Given the description of an element on the screen output the (x, y) to click on. 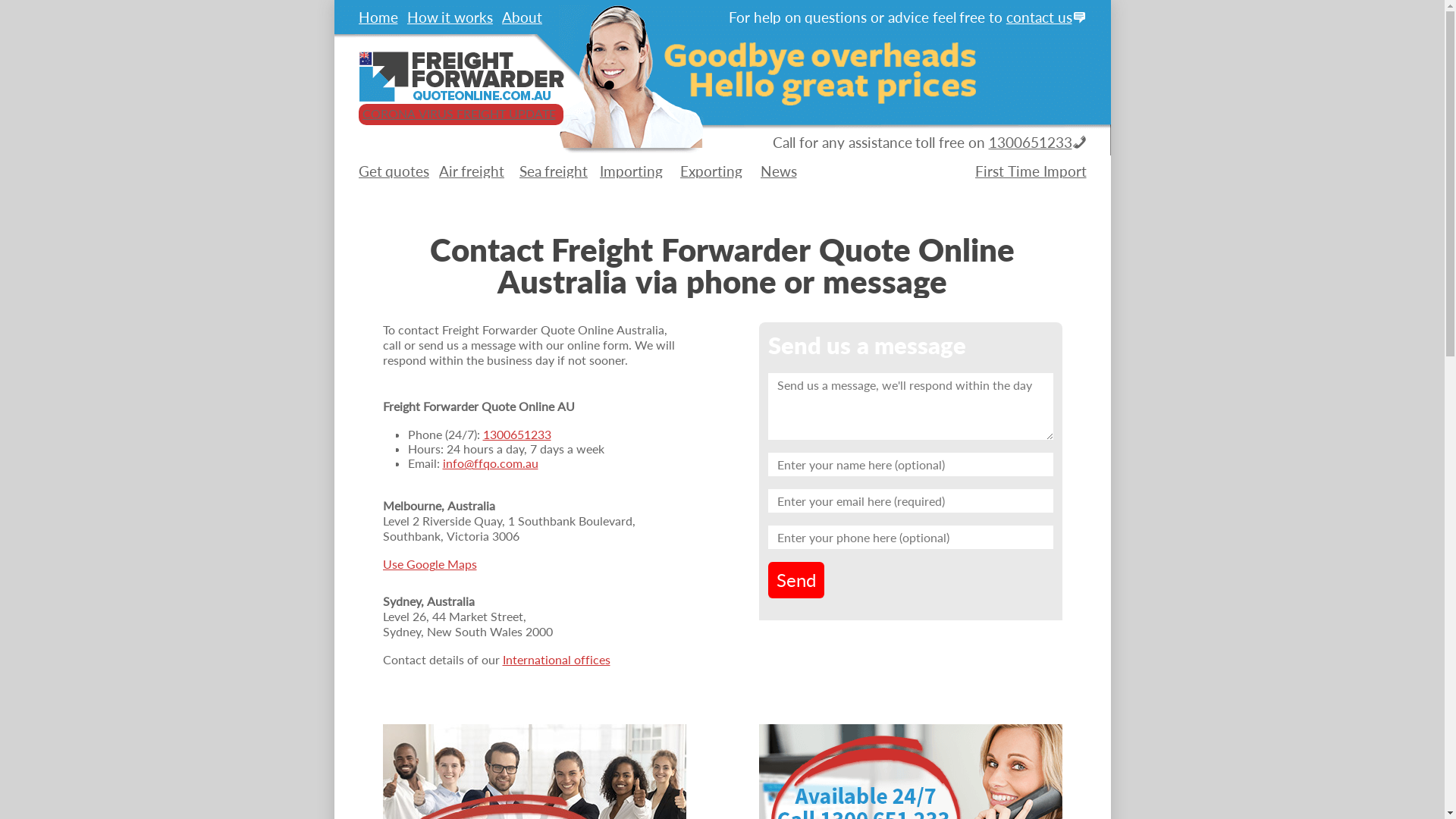
1300651233 Element type: text (1030, 141)
CORONA VIRUS FREIGHT UPDATE Element type: text (458, 113)
First Time Import Element type: text (1030, 170)
Home Element type: text (377, 16)
contact us Element type: text (1039, 16)
info@ffqo.com.au Element type: text (490, 462)
Send Element type: text (795, 579)
Air freight Element type: text (471, 170)
Importing Element type: text (630, 170)
1300651233 Element type: text (516, 433)
How it works Element type: text (449, 16)
Get quotes Element type: text (393, 170)
International offices Element type: text (555, 659)
Sea freight Element type: text (552, 170)
Use Google Maps Element type: text (429, 563)
About Element type: text (522, 16)
News Element type: text (777, 170)
Exporting Element type: text (710, 170)
